Given the description of an element on the screen output the (x, y) to click on. 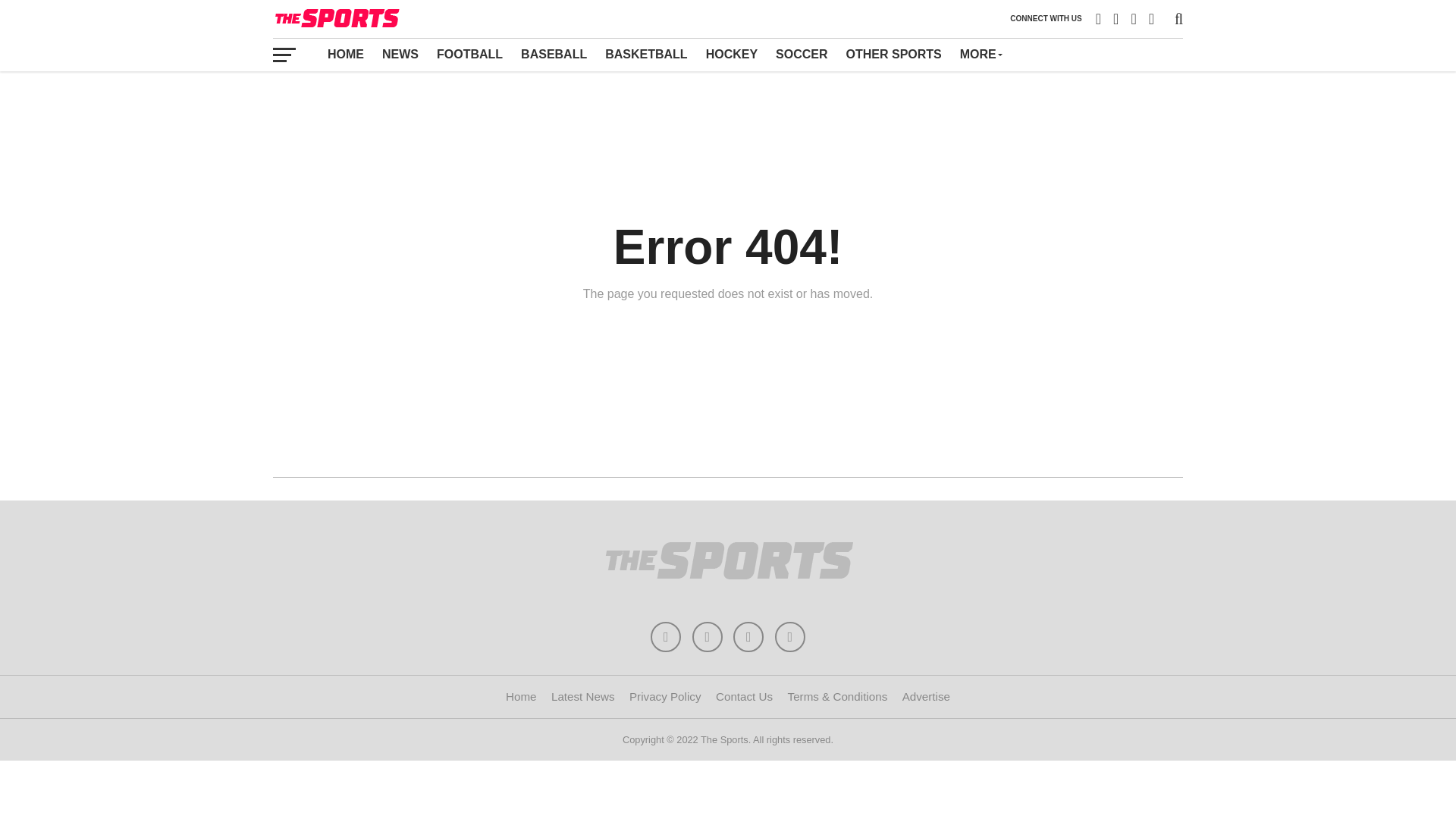
OTHER SPORTS (893, 54)
HOCKEY (732, 54)
BASKETBALL (645, 54)
Home (521, 696)
SOCCER (801, 54)
NEWS (400, 54)
MORE (980, 54)
FOOTBALL (470, 54)
BASEBALL (553, 54)
HOME (345, 54)
